Given the description of an element on the screen output the (x, y) to click on. 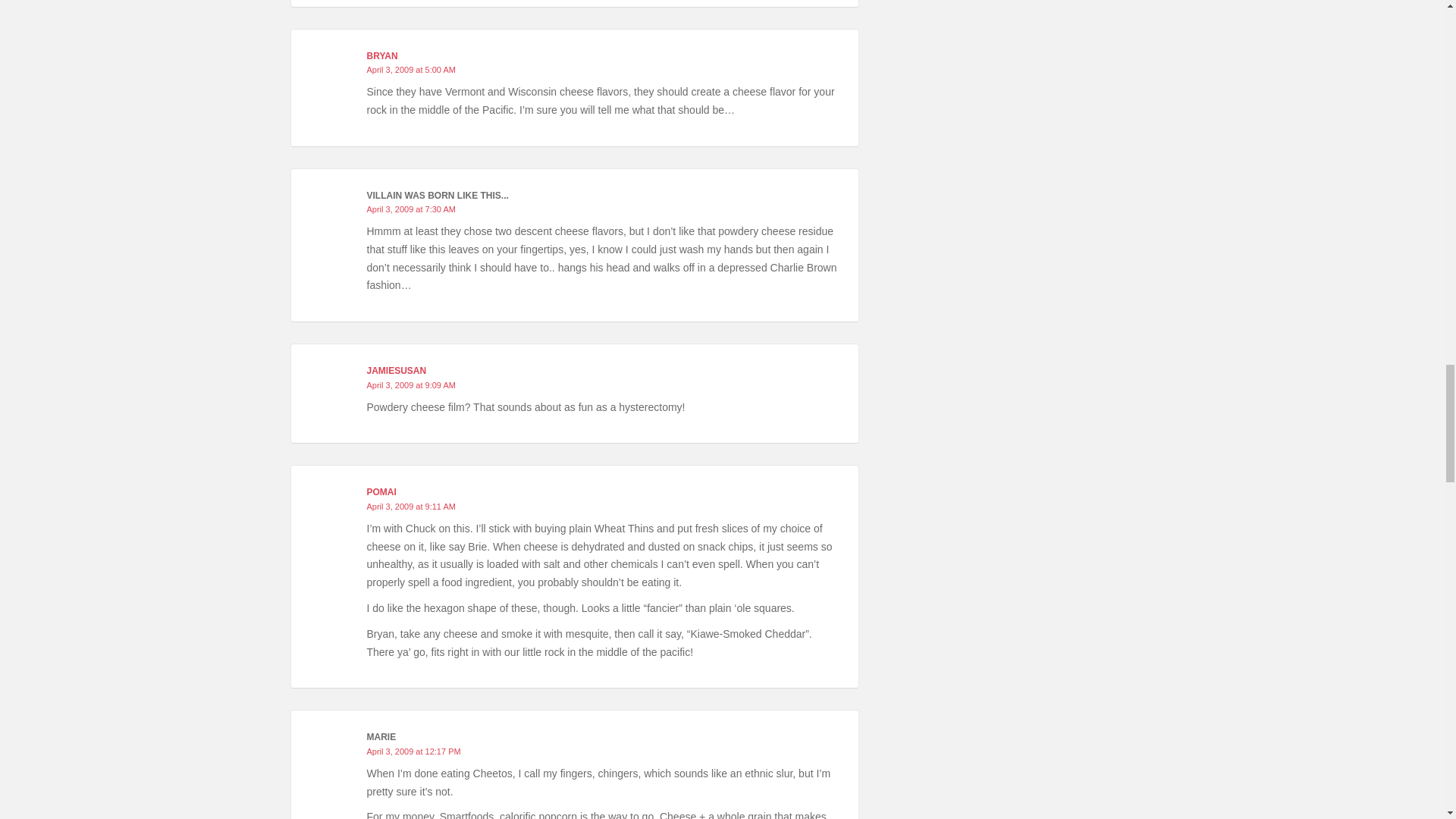
April 3, 2009 at 5:00 AM (410, 69)
April 3, 2009 at 7:30 AM (410, 208)
JAMIESUSAN (396, 370)
BRYAN (381, 55)
April 3, 2009 at 9:11 AM (410, 506)
POMAI (381, 491)
April 3, 2009 at 12:17 PM (413, 750)
April 3, 2009 at 9:09 AM (410, 384)
